Given the description of an element on the screen output the (x, y) to click on. 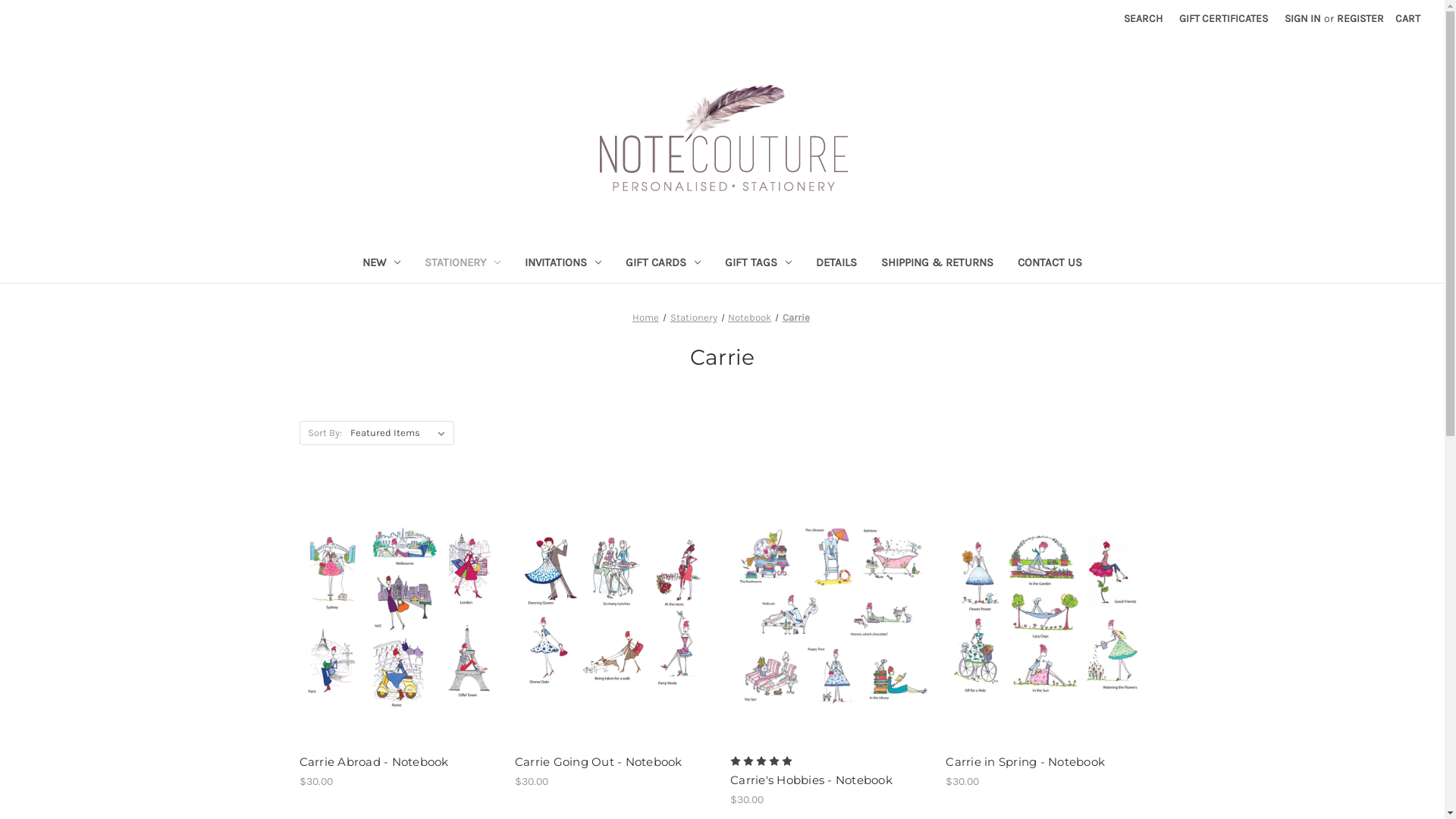
Notebook Element type: text (749, 317)
Carrie Element type: text (795, 317)
Carrie in Spring - Notebook Element type: hover (1045, 614)
NEW Element type: text (381, 263)
Carrie Abroad - Notebook Element type: text (398, 762)
Carrie Abroad - Notebook Element type: hover (398, 613)
CART Element type: text (1407, 18)
REGISTER Element type: text (1360, 18)
INVITATIONS Element type: text (562, 263)
SIGN IN Element type: text (1302, 18)
Note Couture Element type: hover (722, 138)
Carrie in Spring - Notebook Element type: text (1045, 762)
Carrie Going Out - Notebook Element type: text (614, 762)
Carrie Going Out - Notebook Element type: hover (614, 614)
GIFT CERTIFICATES Element type: text (1223, 18)
Stationery Element type: text (693, 317)
GIFT TAGS Element type: text (757, 263)
Home Element type: text (645, 317)
CONTACT US Element type: text (1049, 263)
STATIONERY Element type: text (462, 263)
DETAILS Element type: text (836, 263)
SEARCH Element type: text (1142, 18)
SHIPPING & RETURNS Element type: text (937, 263)
Carrie's Hobbies - Notebook Element type: text (829, 780)
Carrie's Hobbies - Notebook Element type: hover (829, 613)
GIFT CARDS Element type: text (662, 263)
